Given the description of an element on the screen output the (x, y) to click on. 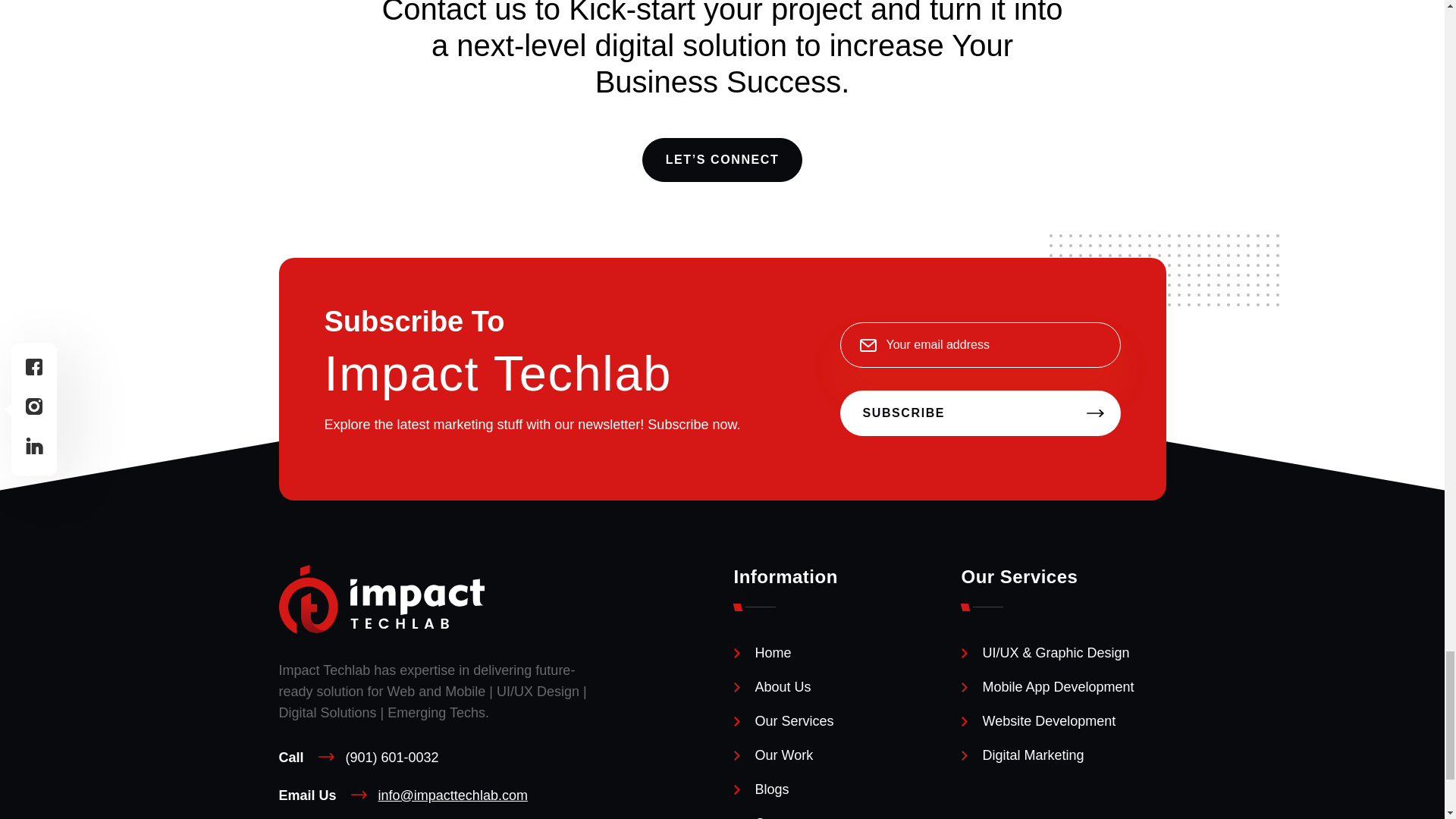
SUBSCRIBE (980, 412)
Impact Techlab (381, 629)
SUBSCRIBE (980, 412)
